Given the description of an element on the screen output the (x, y) to click on. 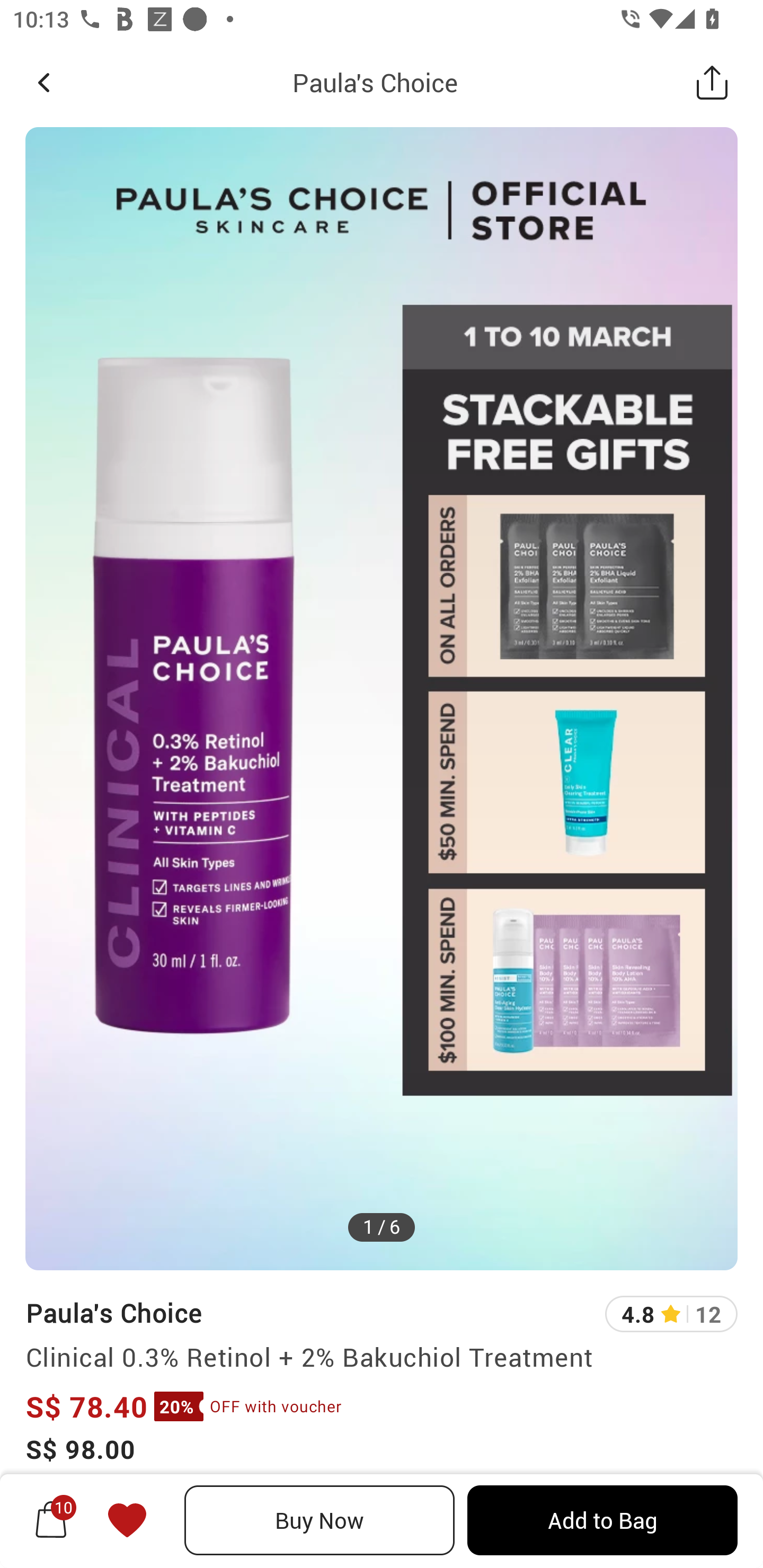
Paula's Choice (375, 82)
Share this Product (711, 82)
Paula's Choice (113, 1312)
4.8 12 (671, 1313)
Buy Now (319, 1519)
Add to Bag (601, 1519)
10 (50, 1520)
